Given the description of an element on the screen output the (x, y) to click on. 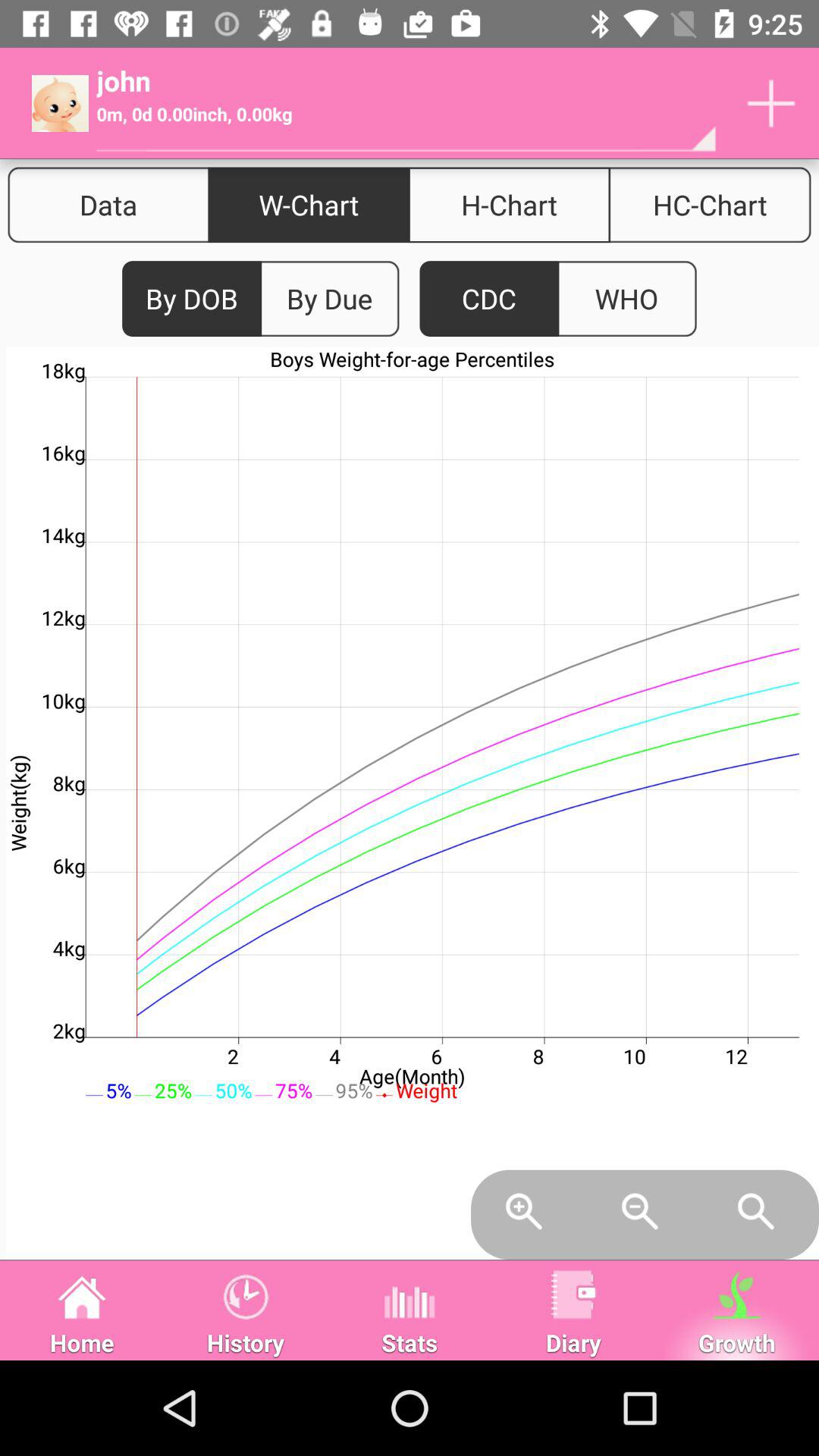
launch the item to the right of h-chart item (709, 204)
